Given the description of an element on the screen output the (x, y) to click on. 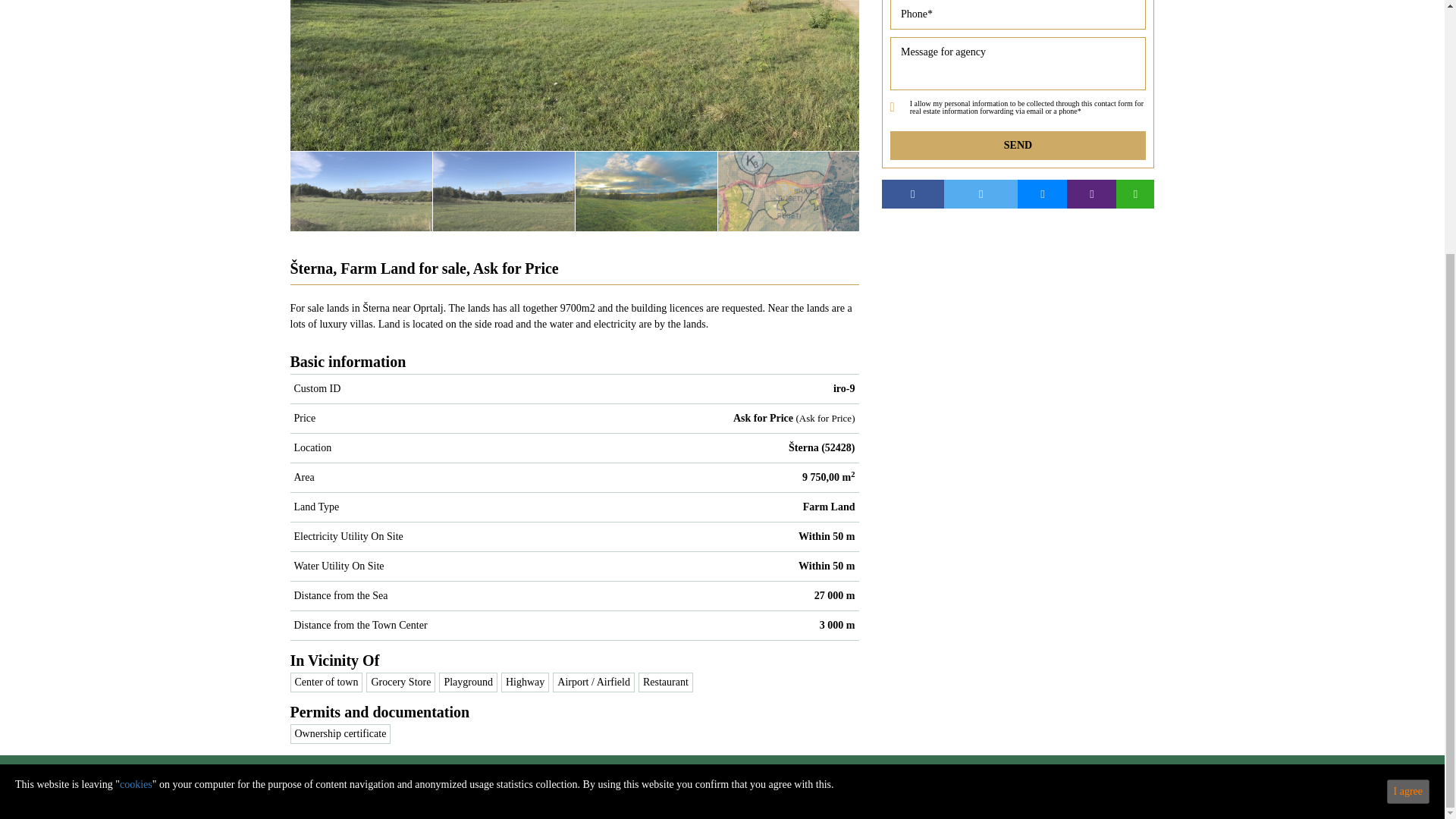
SEND (1018, 145)
Atractive lands near Oprtalj (574, 75)
real estate management software (794, 800)
cookies (135, 425)
I agree (1408, 432)
Atractive lands near Oprtalj (218, 190)
Atractive lands near Oprtalj (360, 190)
Atractive lands near Oprtalj (503, 190)
